Given the description of an element on the screen output the (x, y) to click on. 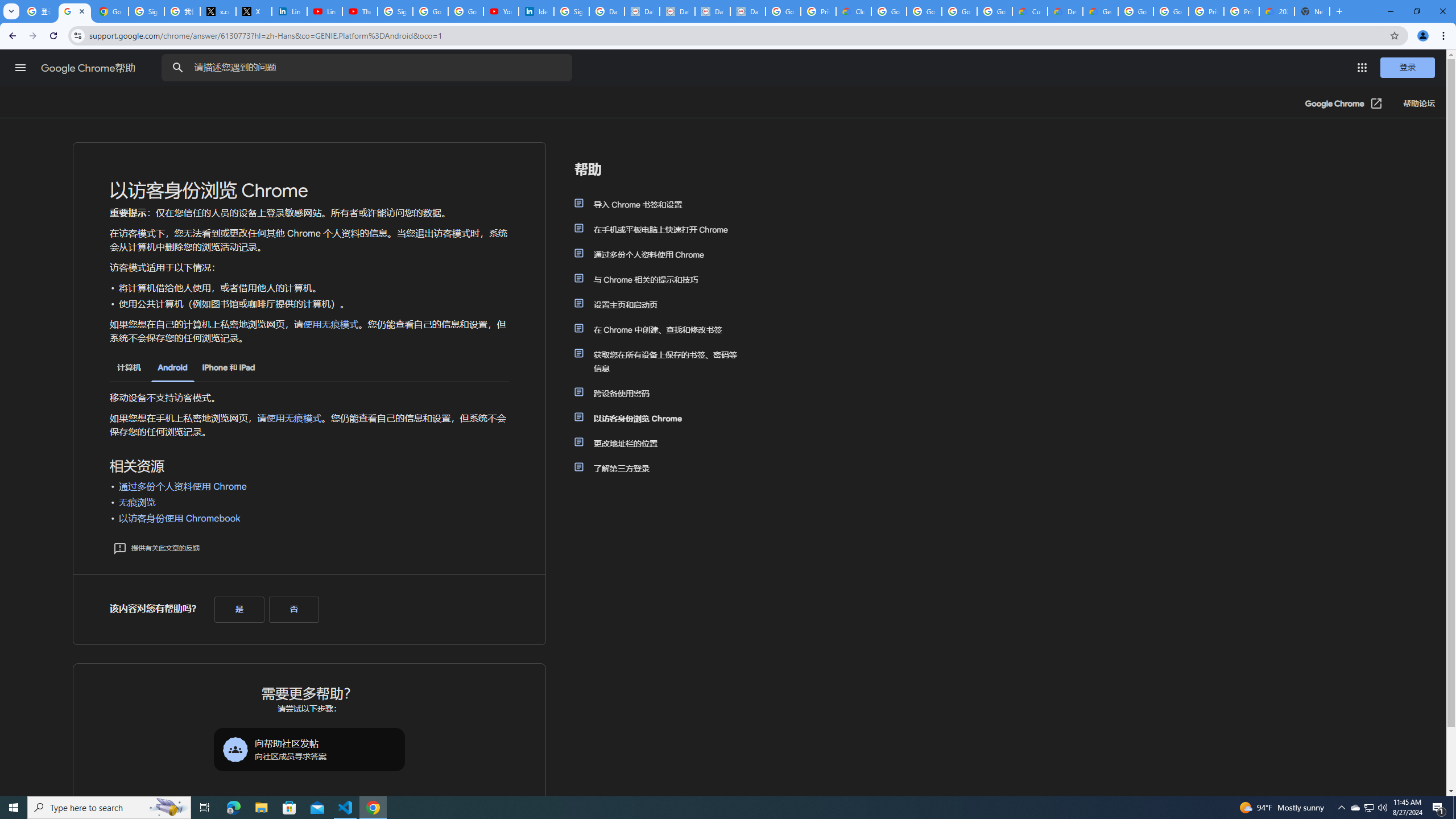
Google Workspace - Specific Terms (994, 11)
Sign in - Google Accounts (571, 11)
Data Privacy Framework (712, 11)
Cloud Data Processing Addendum | Google Cloud (853, 11)
